Given the description of an element on the screen output the (x, y) to click on. 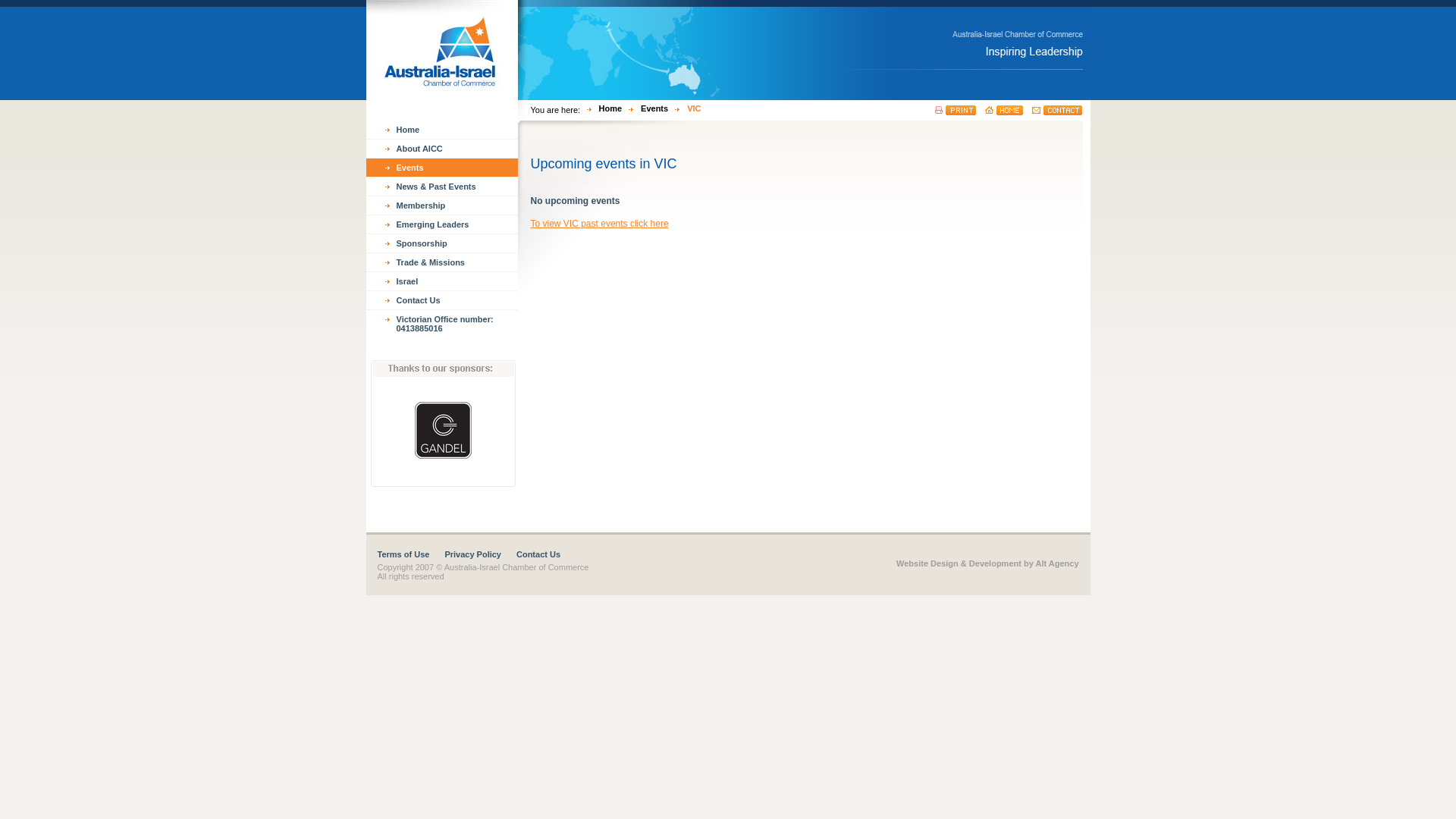
Gandel Element type: hover (442, 426)
Website Design & Development Element type: text (958, 562)
To view VIC past events click here Element type: text (599, 223)
About AICC Element type: text (441, 148)
Contact Us Element type: text (441, 300)
Membership Element type: text (441, 205)
Contact Us Element type: text (545, 553)
Sponsorship Element type: text (441, 243)
Terms of Use Element type: text (411, 553)
Home Element type: text (441, 129)
Victorian Office number: 0413885016 Element type: text (441, 323)
Events Element type: text (644, 107)
Events Element type: text (441, 167)
News & Past Events Element type: text (441, 186)
Privacy Policy Element type: text (480, 553)
Israel Element type: text (441, 281)
Trade & Missions Element type: text (441, 262)
Alt Agency Element type: text (1056, 562)
Home Element type: text (600, 107)
Emerging Leaders Element type: text (441, 224)
